Given the description of an element on the screen output the (x, y) to click on. 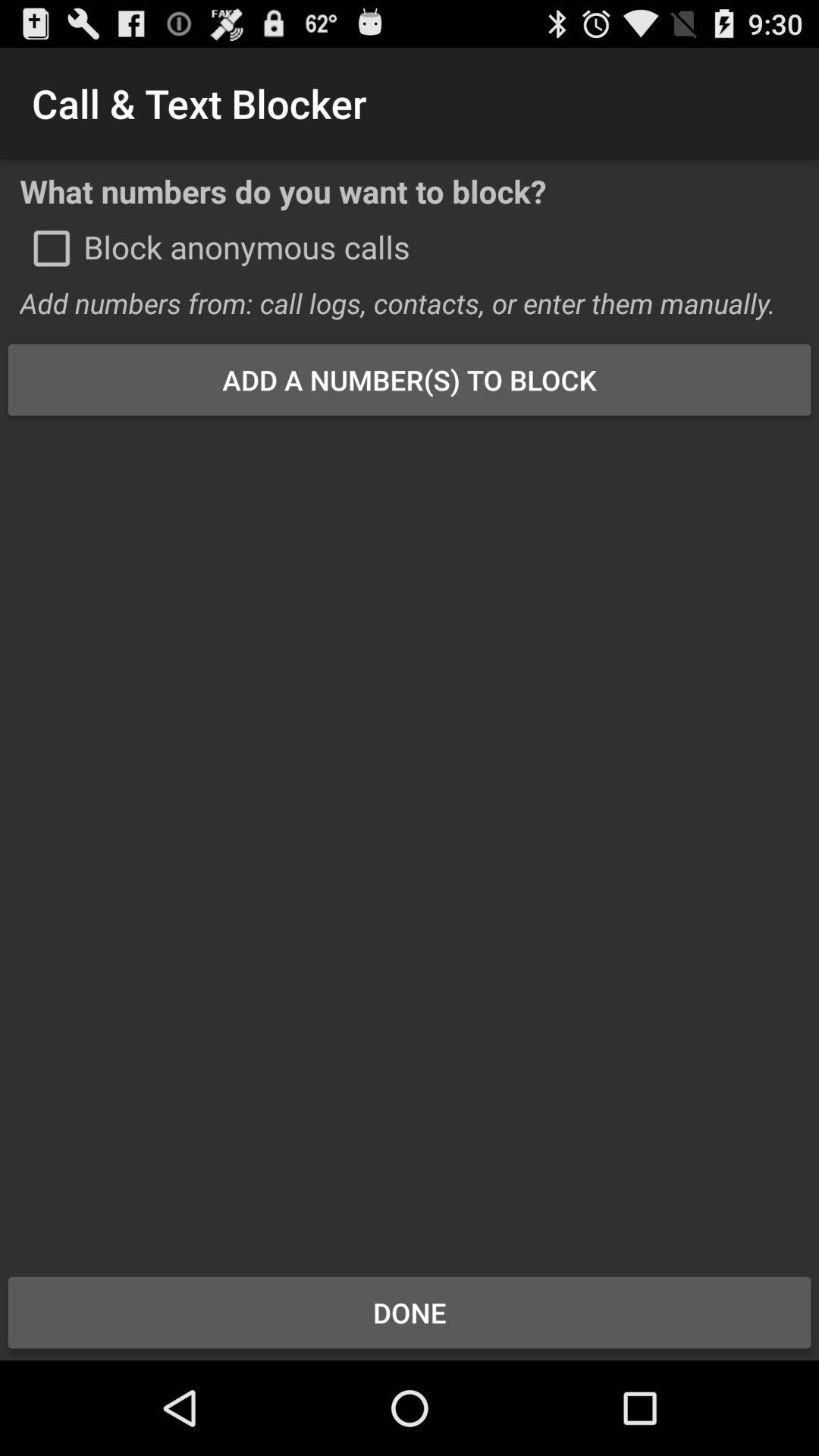
launch the icon above the done icon (409, 835)
